Given the description of an element on the screen output the (x, y) to click on. 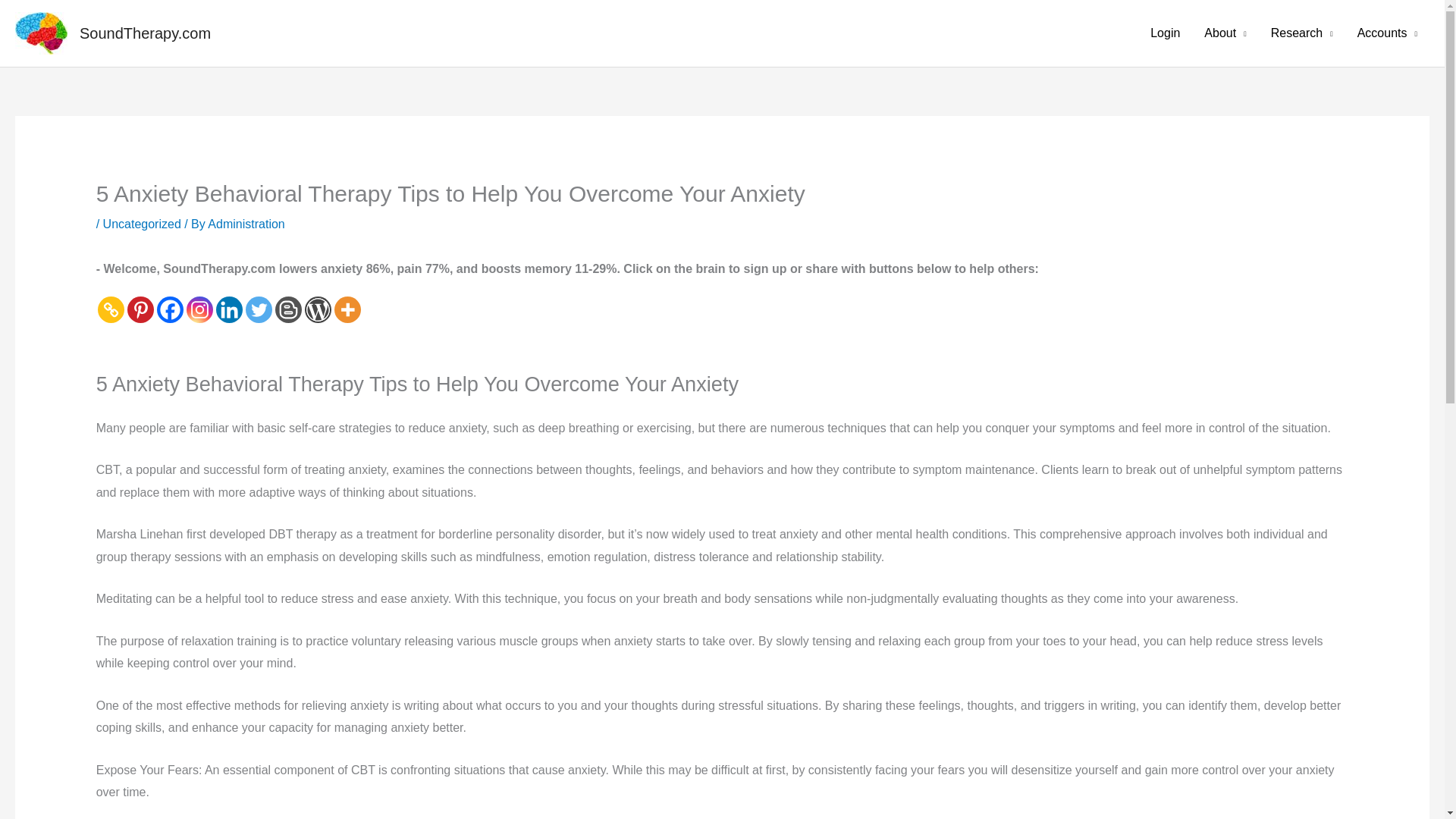
Twitter (259, 309)
Blogger Post (288, 309)
Pinterest (141, 309)
Research (1302, 33)
View all posts by Administration (245, 223)
About (1224, 33)
Copy Link (110, 309)
Linkedin (229, 309)
SoundTherapy.com (145, 33)
More (347, 309)
